Given the description of an element on the screen output the (x, y) to click on. 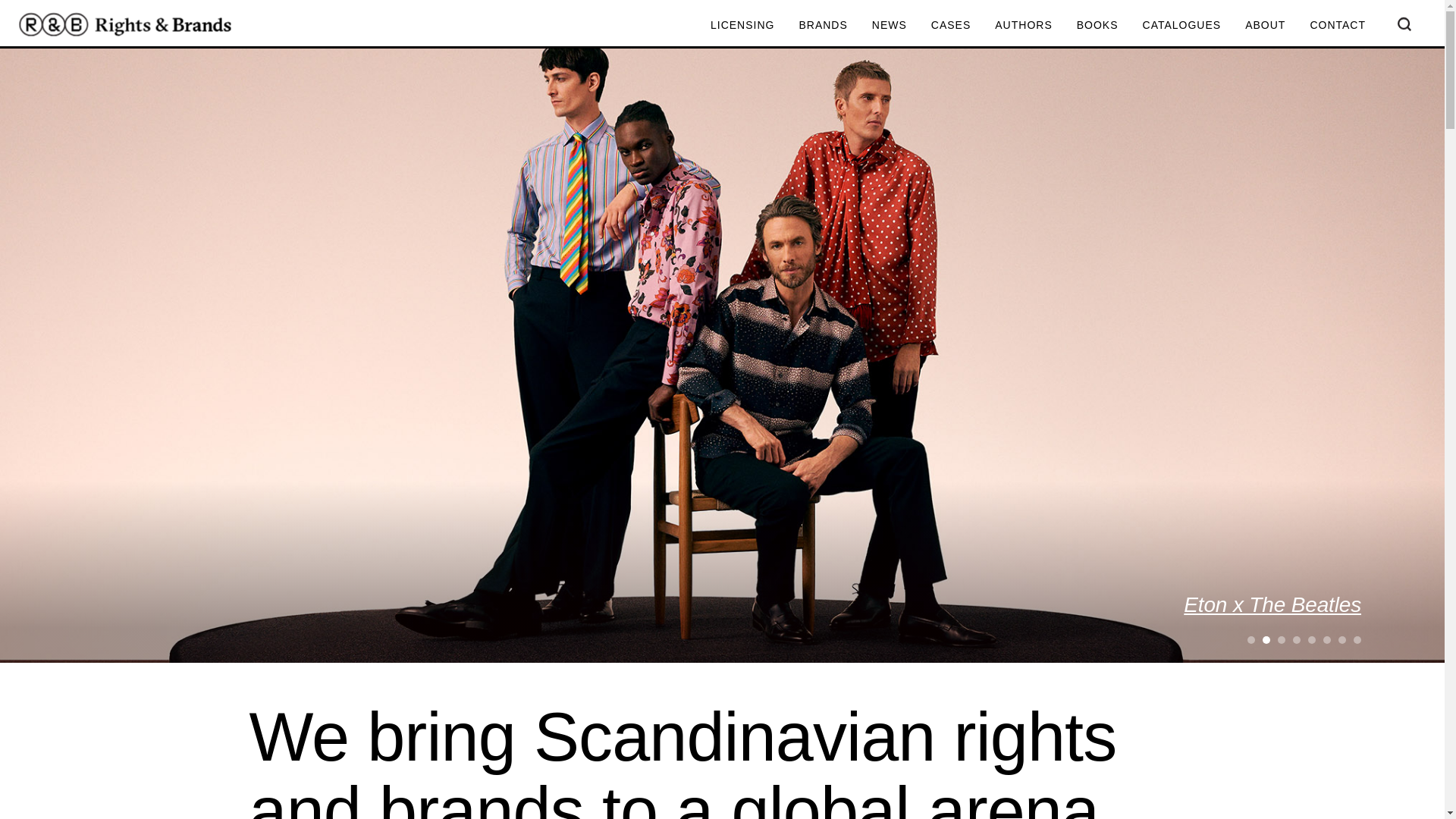
CATALOGUES (1181, 25)
CONTACT (1336, 25)
BRANDS (822, 25)
ABOUT (1264, 25)
CASES (951, 25)
BOOKS (1097, 25)
LICENSING (742, 25)
NEWS (889, 25)
AUTHORS (1022, 25)
